Given the description of an element on the screen output the (x, y) to click on. 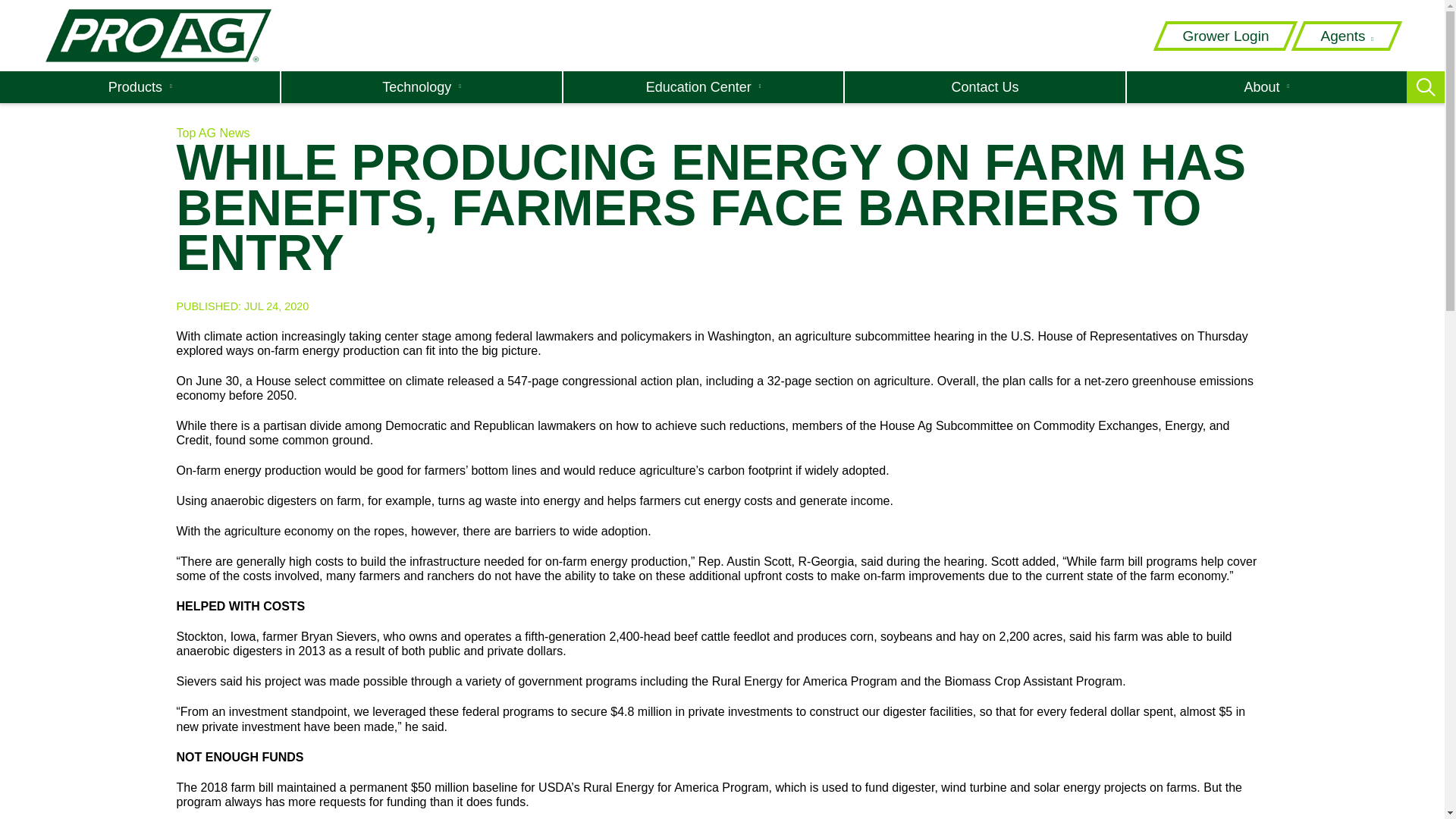
Grower Login (1225, 36)
Products (139, 87)
Search (1010, 78)
Search (1010, 78)
Agents (1346, 36)
